Given the description of an element on the screen output the (x, y) to click on. 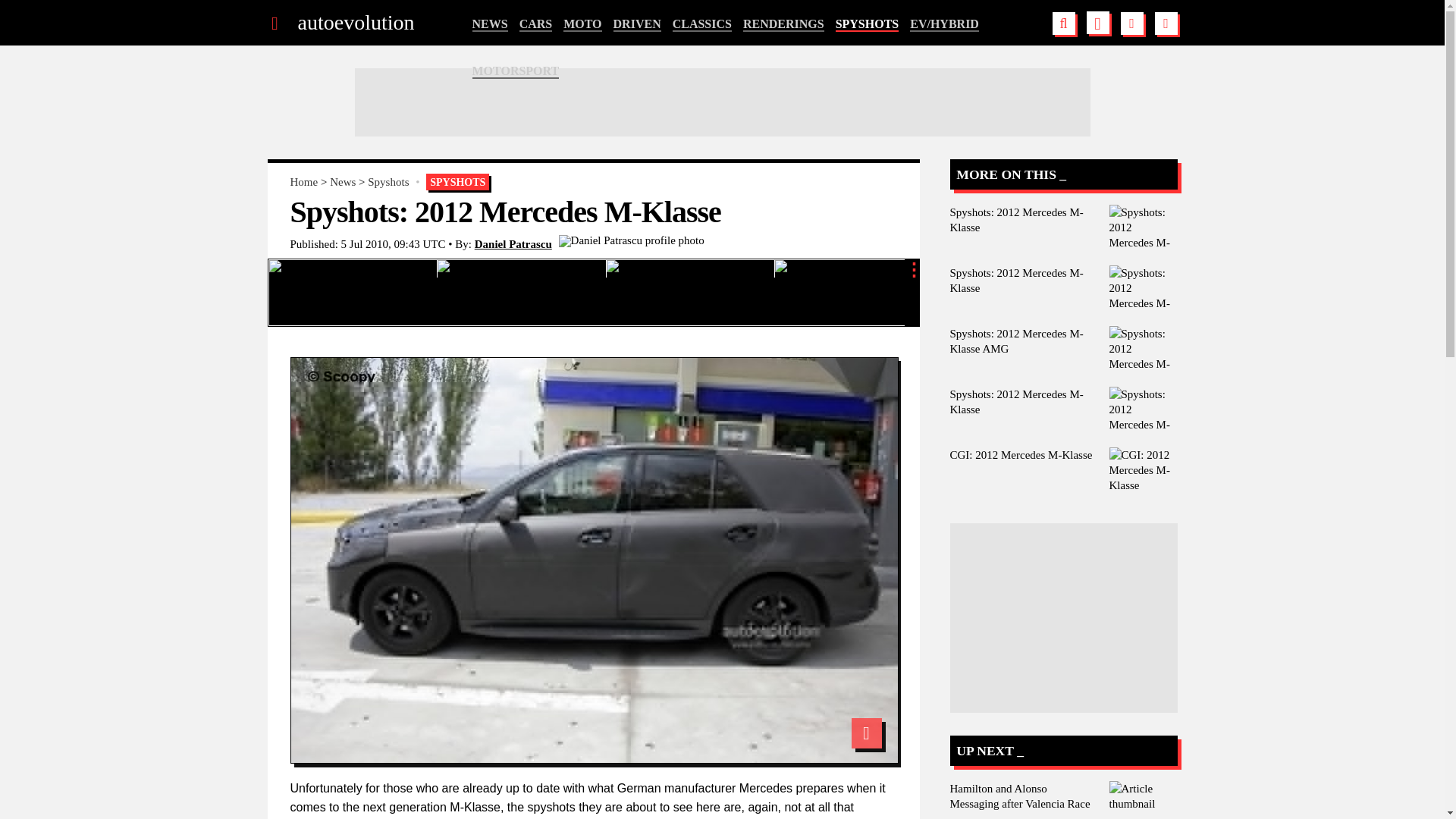
NEWS (488, 24)
SPYSHOTS (867, 24)
Spyshots (388, 182)
autoevolution (355, 22)
News (342, 182)
RENDERINGS (783, 24)
MOTO (582, 24)
MOTORSPORT (515, 71)
CLASSICS (702, 24)
Home (303, 182)
CARS (536, 24)
DRIVEN (636, 24)
autoevolution (355, 22)
